Given the description of an element on the screen output the (x, y) to click on. 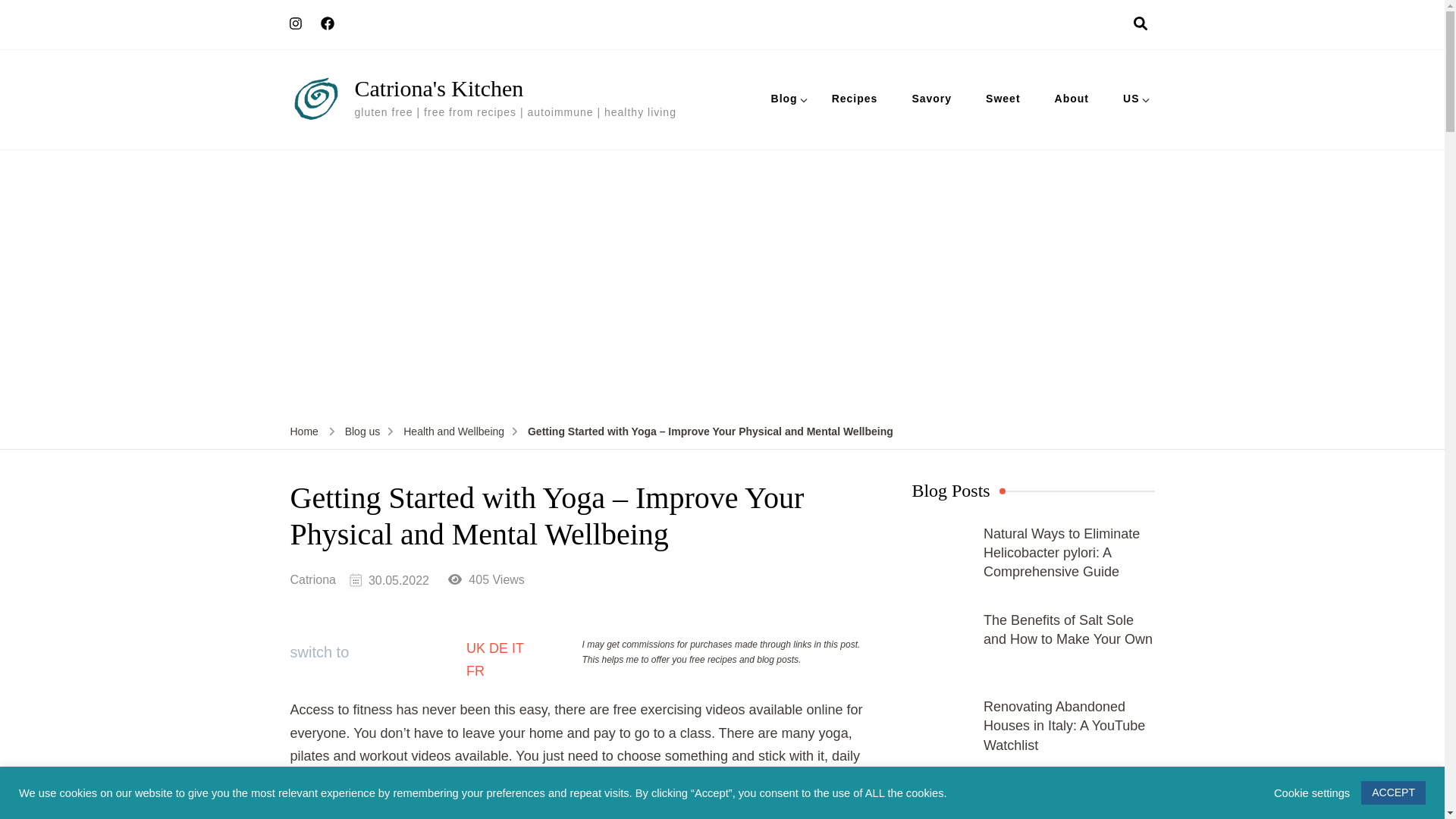
Sweet (1003, 98)
Savory (931, 98)
Recipes (854, 98)
About (1071, 98)
Blog (783, 98)
US (1131, 98)
Search (926, 485)
Catriona's Kitchen (439, 88)
